Given the description of an element on the screen output the (x, y) to click on. 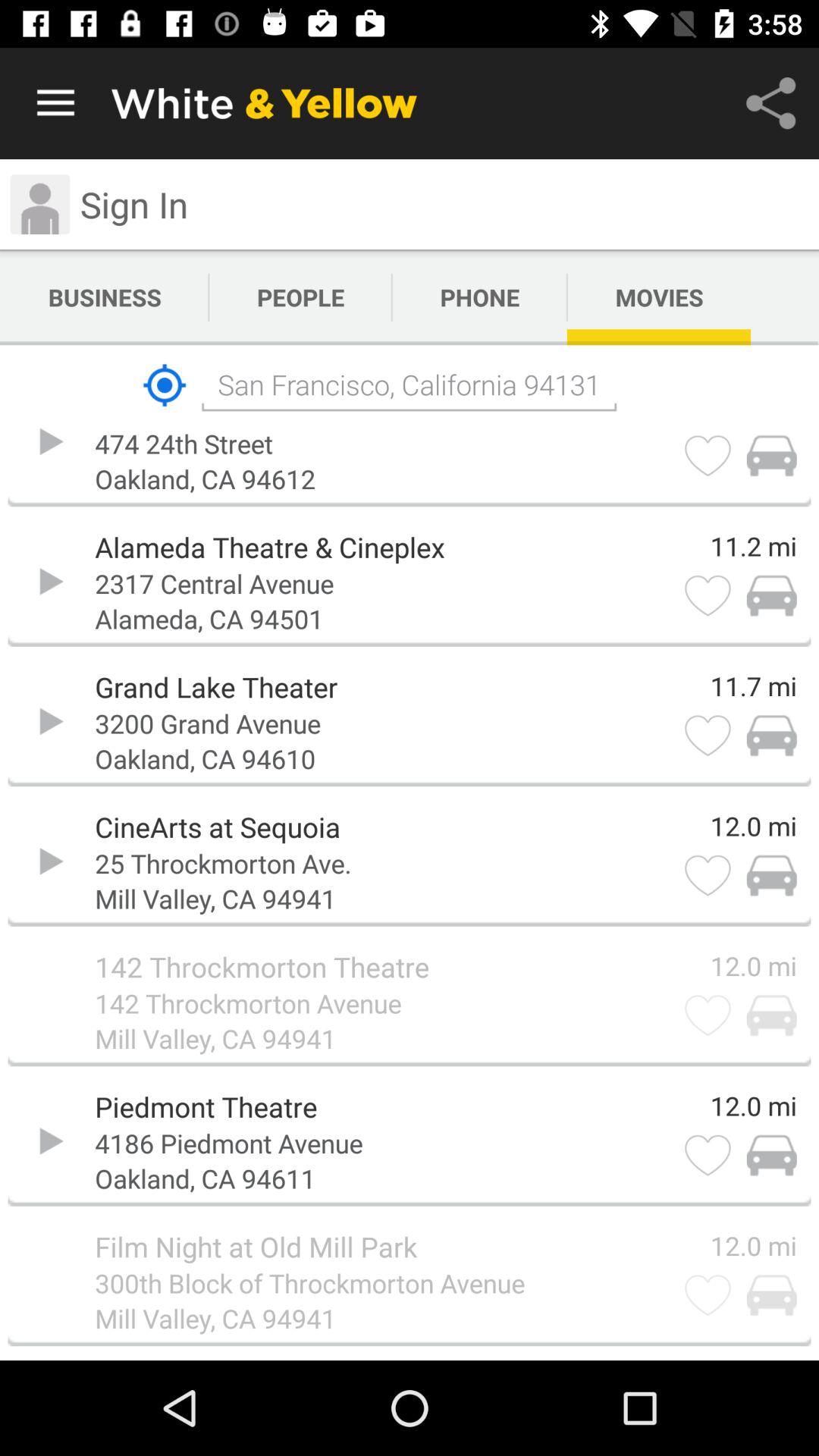
open the business (104, 297)
